Given the description of an element on the screen output the (x, y) to click on. 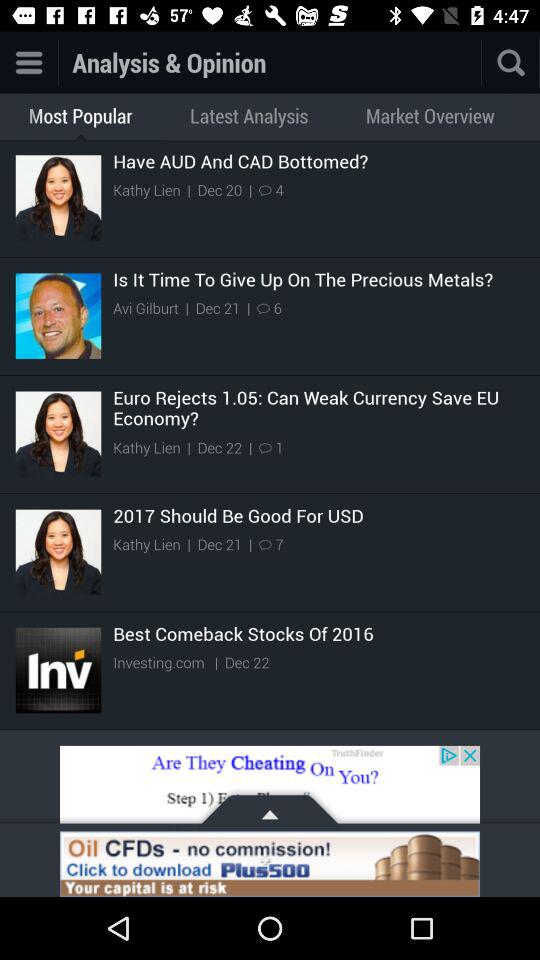
click advertisement (270, 864)
